Given the description of an element on the screen output the (x, y) to click on. 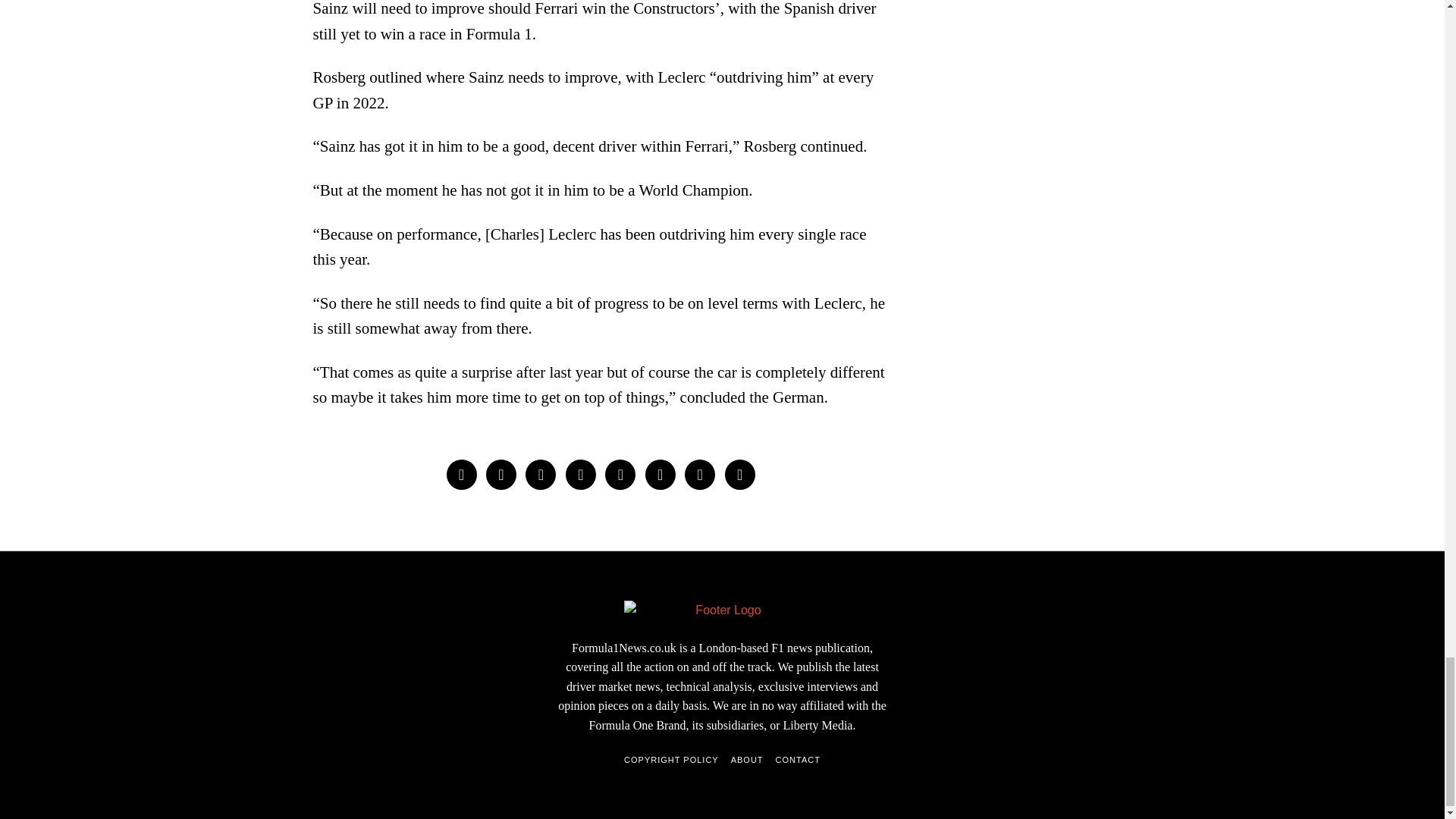
COPYRIGHT POLICY (671, 759)
Twitter (540, 474)
CONTACT (798, 759)
Facebook (460, 474)
Messenger (501, 474)
Pinterest (580, 474)
ABOUT (746, 759)
Linkedin (619, 474)
Whatsapp (660, 474)
Reddit (699, 474)
